Given the description of an element on the screen output the (x, y) to click on. 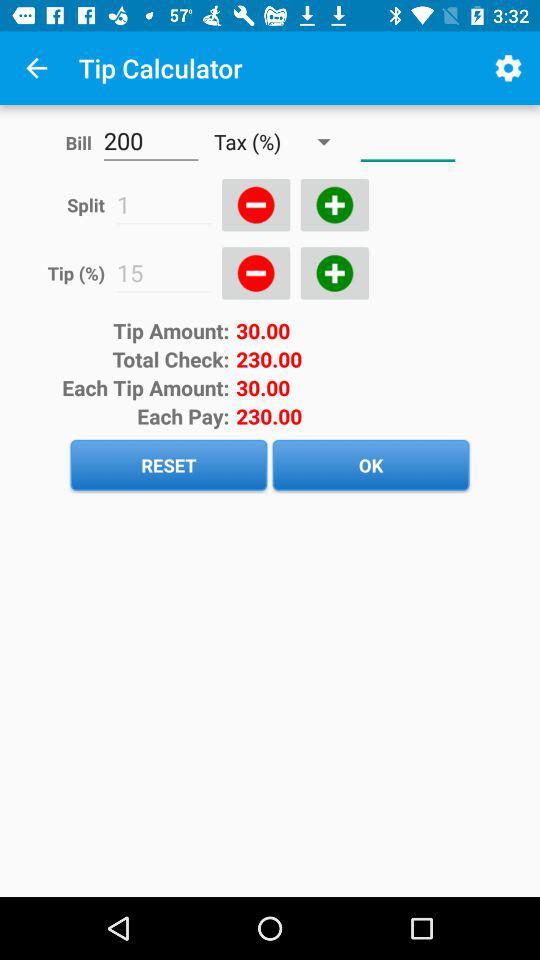
minues (255, 205)
